Given the description of an element on the screen output the (x, y) to click on. 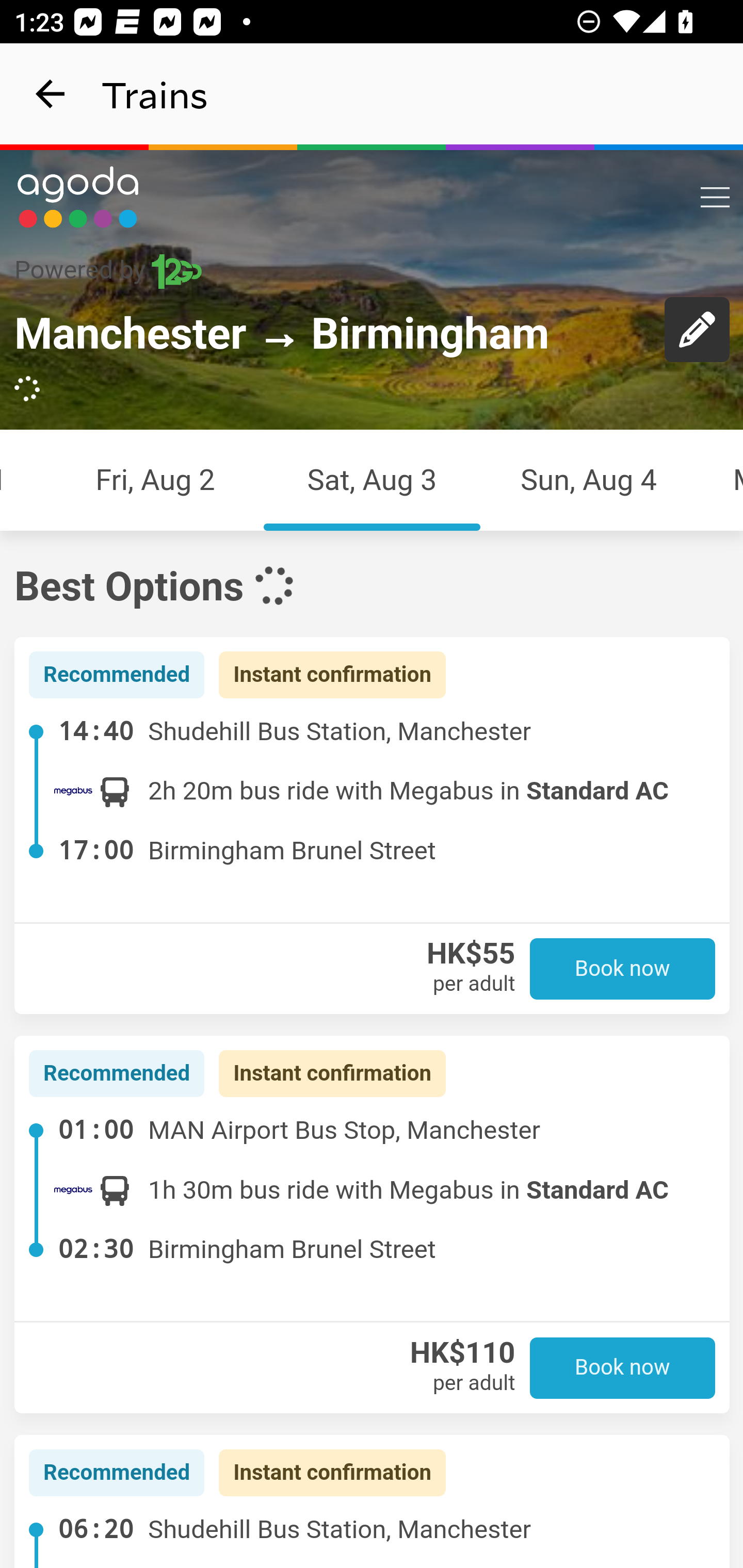
navigation_button (50, 93)
Link to main page 5418 (78, 197)
Fri, Aug 2 (154, 478)
Sat, Aug 3 (371, 478)
Sun, Aug 4 (589, 478)
Book now (622, 968)
Book now (622, 1366)
